Given the description of an element on the screen output the (x, y) to click on. 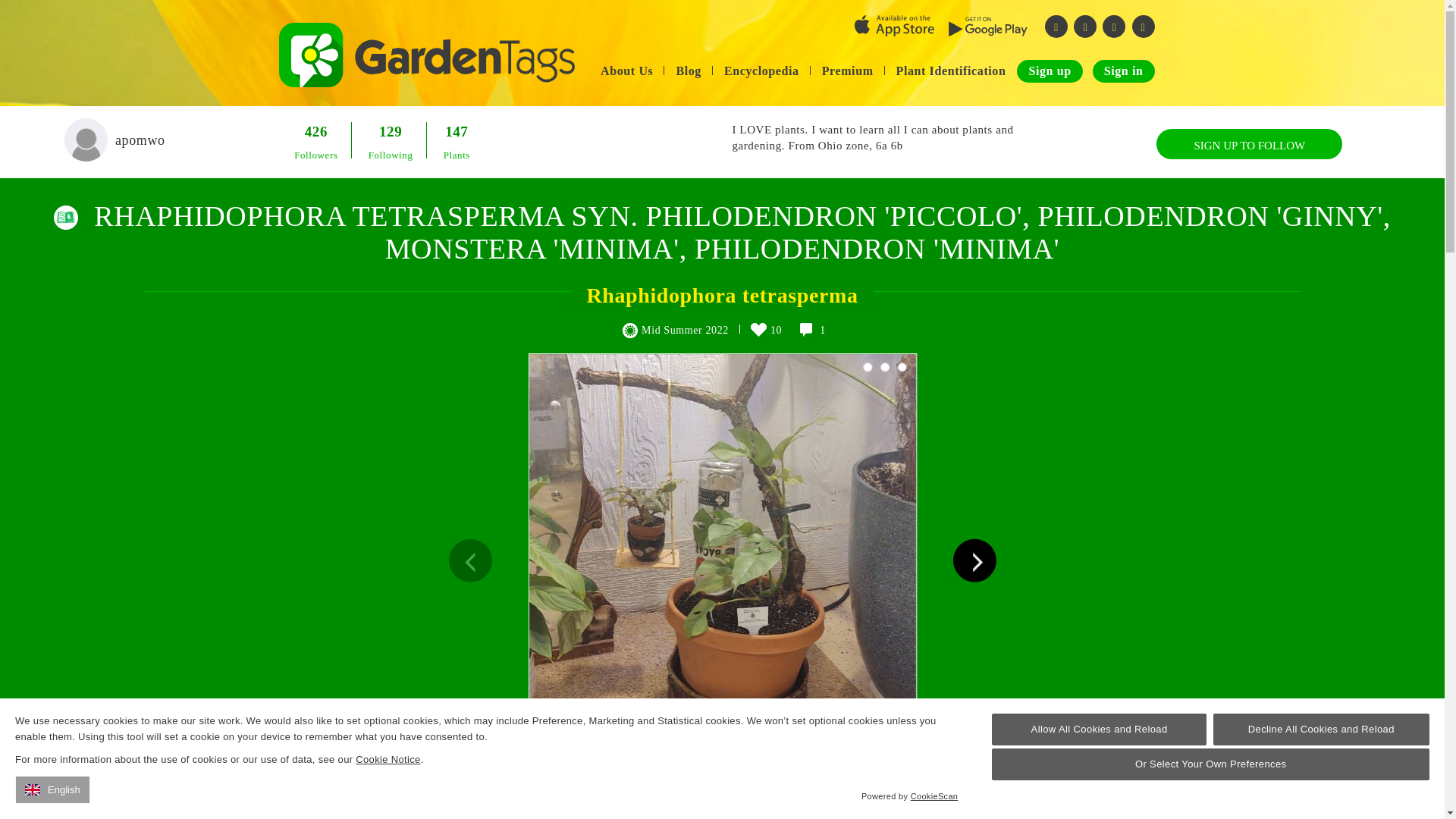
Premium (847, 71)
Sign in (1123, 70)
Sign up (1048, 70)
Sign in (1123, 70)
Encyclopedia (761, 71)
Sign up (1048, 70)
Blog (688, 71)
Encyclopedia (761, 71)
Premium (847, 71)
Profile Image Amanda Pratt (85, 139)
Blog (688, 71)
playstore logo (988, 26)
SIGN UP TO FOLLOW (1249, 143)
About Us (626, 71)
About Us (626, 71)
